Given the description of an element on the screen output the (x, y) to click on. 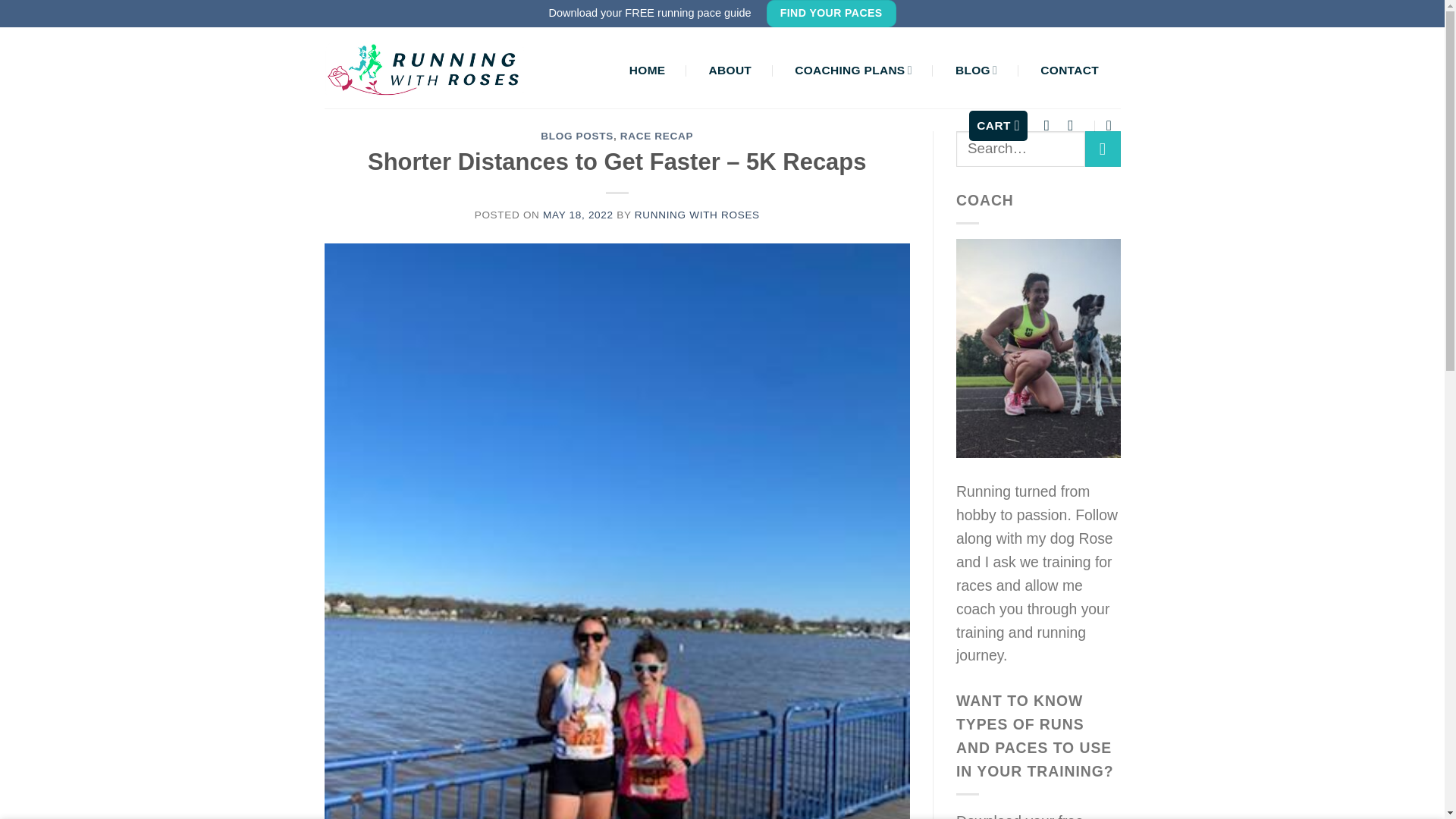
CART (998, 125)
Cart (998, 125)
RUNNING WITH ROSES (697, 214)
Send us an email (1075, 125)
FIND YOUR PACES (831, 13)
RACE RECAP (656, 135)
MAY 18, 2022 (577, 214)
COACHING PLANS (853, 70)
Follow on Instagram (1051, 125)
